Given the description of an element on the screen output the (x, y) to click on. 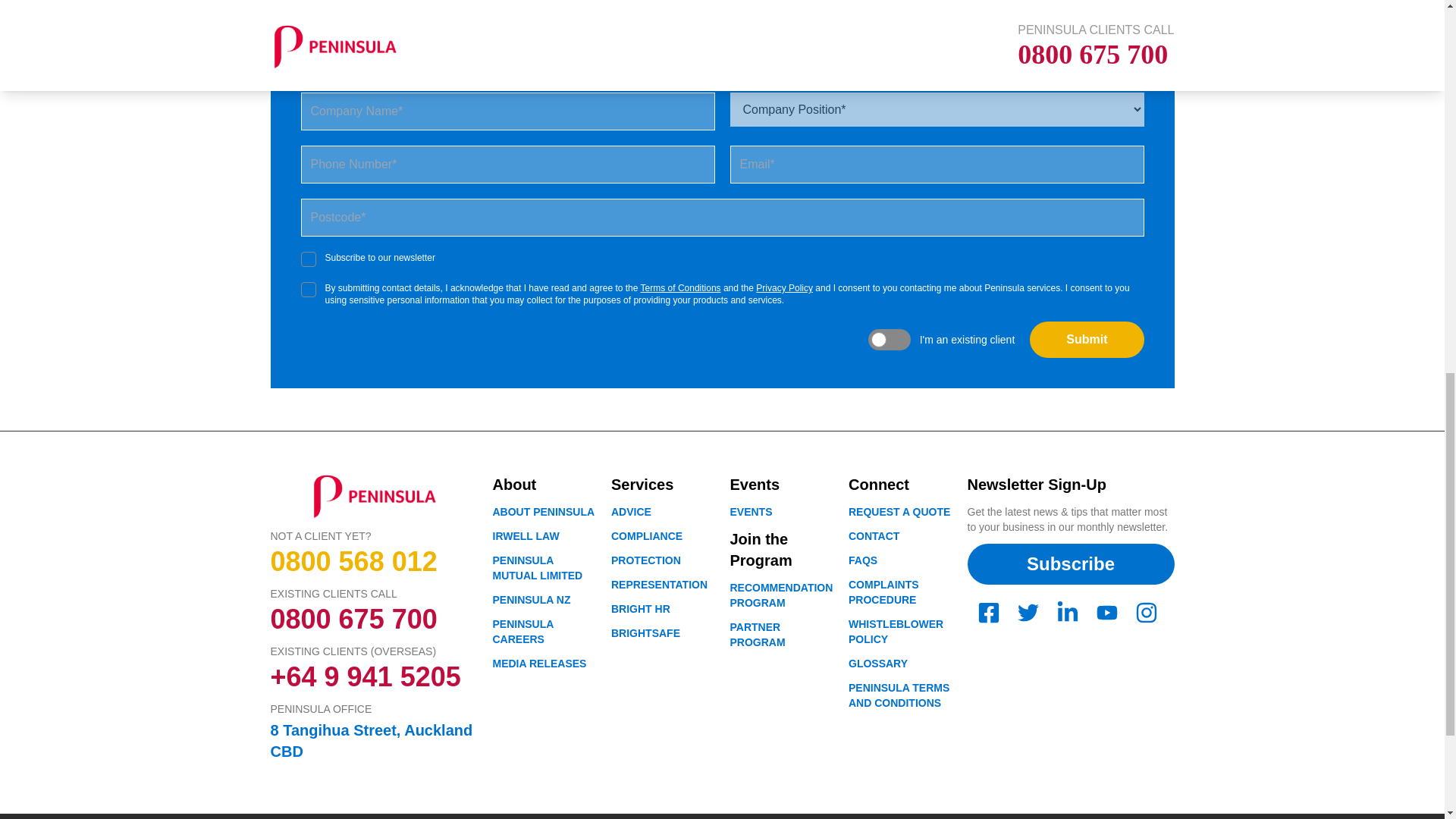
Employment Relations Adice (630, 511)
on (307, 289)
Peninsula Careers (523, 631)
Peninsula Mutual Limited (538, 567)
Peninsula Complaints Procedure (883, 592)
BrightSafe (645, 633)
Peninsula Events (750, 511)
About Peninsula (544, 511)
on (307, 258)
About Peninsula (899, 511)
Peninsula's Partner Program (756, 634)
Peninsula Media Releases (539, 663)
Peninsula Compliance Support (646, 535)
Irwell Law (526, 535)
Peninsula Protection Services (646, 560)
